Given the description of an element on the screen output the (x, y) to click on. 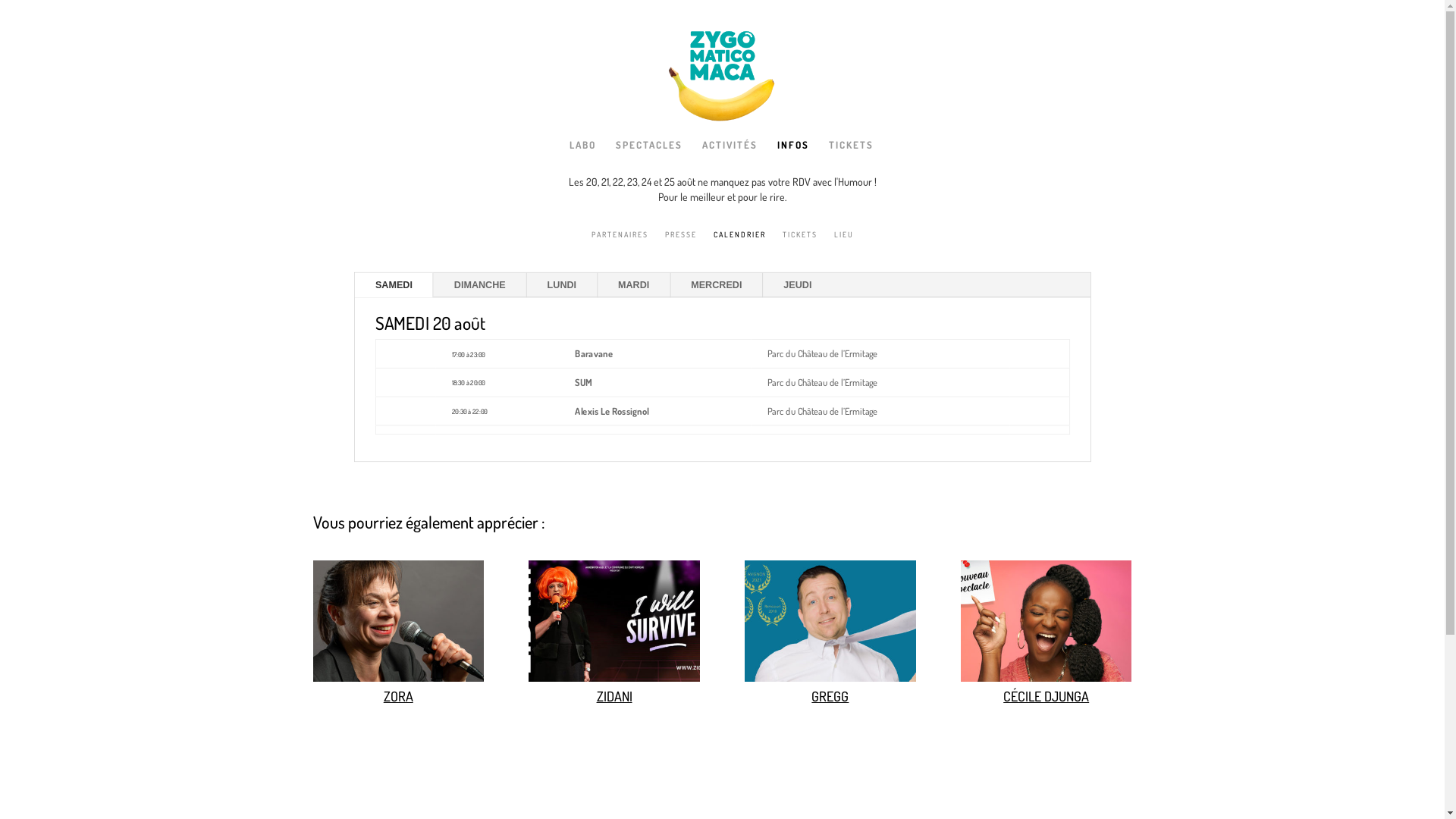
Zora Element type: hover (397, 677)
SAMEDI Element type: text (397, 286)
Baravane Element type: text (595, 354)
ZIDANI Element type: text (614, 695)
GREGG Element type: text (829, 695)
Alexis Le Rossignol Element type: text (615, 410)
TICKETS Element type: text (850, 156)
JEUDI Element type: text (800, 286)
INFOS Element type: text (793, 156)
SUM Element type: text (583, 382)
LABO Element type: text (582, 156)
LIEU Element type: text (843, 245)
PARTENAIRES Element type: text (619, 245)
DIMANCHE Element type: text (484, 286)
ZIDANI Element type: hover (613, 677)
CALENDRIER Element type: text (738, 245)
LUNDI Element type: text (565, 286)
MERCREDI Element type: text (721, 286)
TICKETS Element type: text (799, 245)
SPECTACLES Element type: text (648, 156)
ZORA Element type: text (398, 695)
Gregg Element type: hover (829, 677)
PRESSE Element type: text (680, 245)
MARDI Element type: text (637, 286)
